Given the description of an element on the screen output the (x, y) to click on. 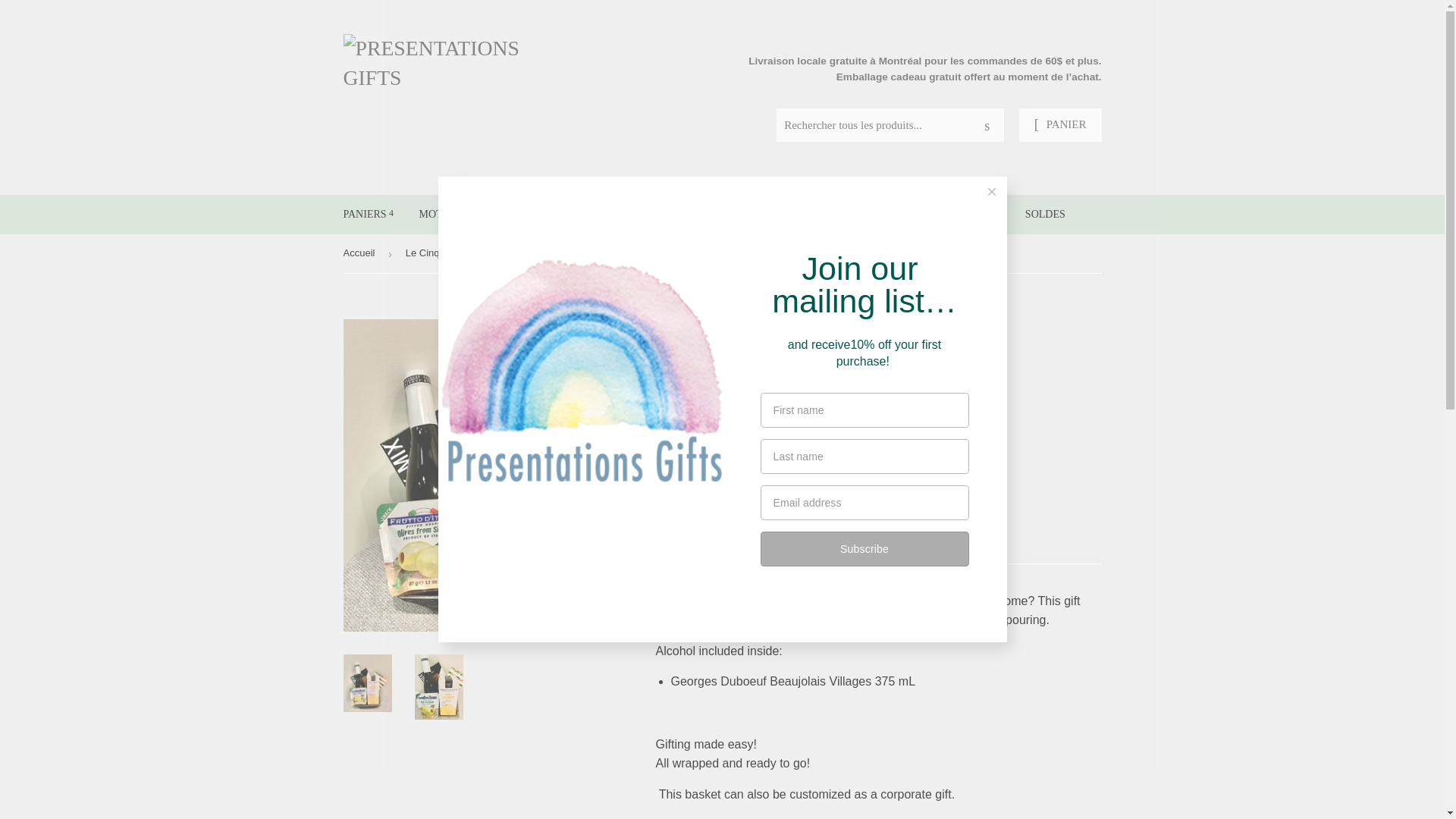
Chercher (986, 125)
PANIER (1060, 124)
